Given the description of an element on the screen output the (x, y) to click on. 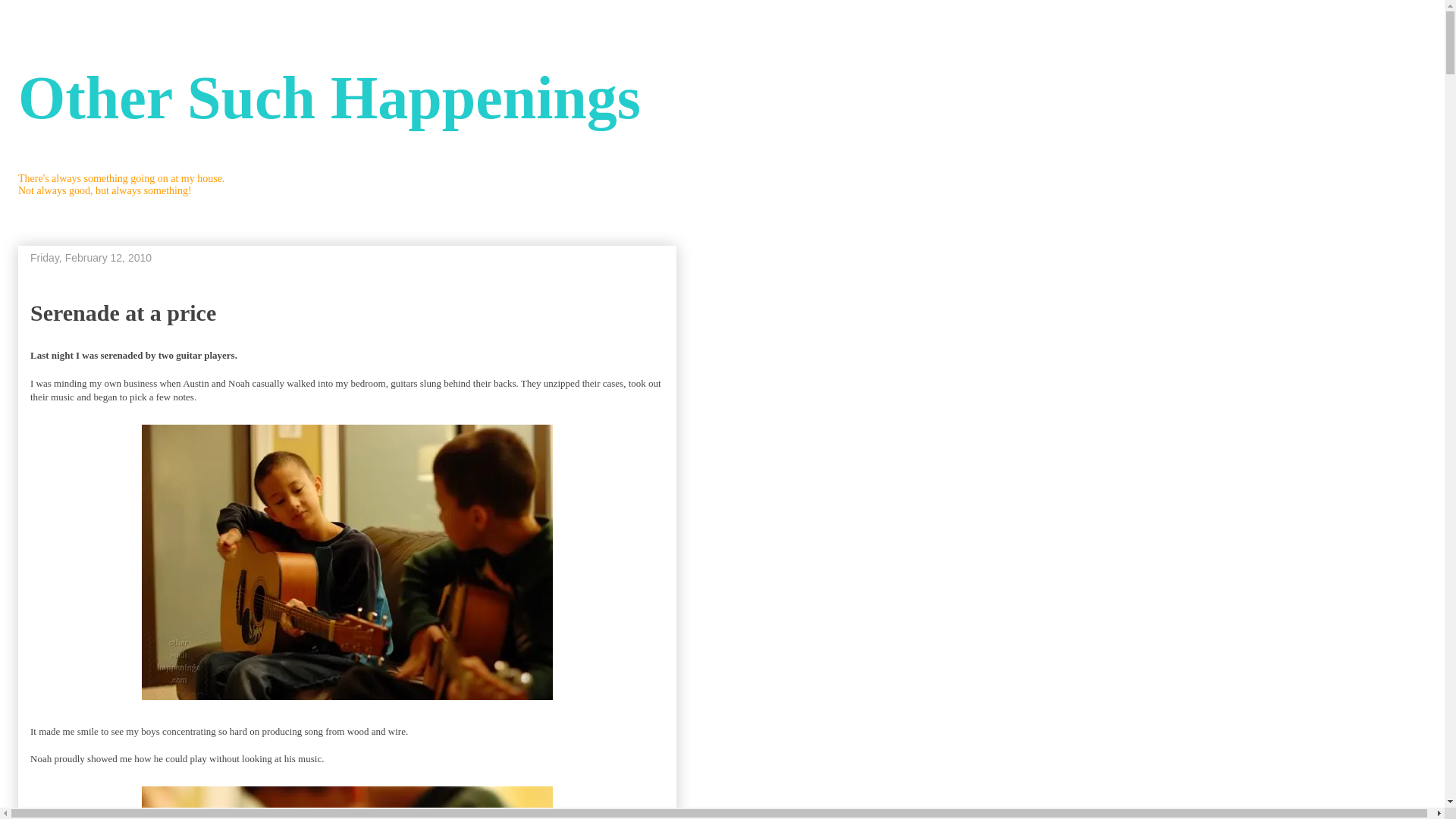
Other Such Happenings (328, 97)
